Given the description of an element on the screen output the (x, y) to click on. 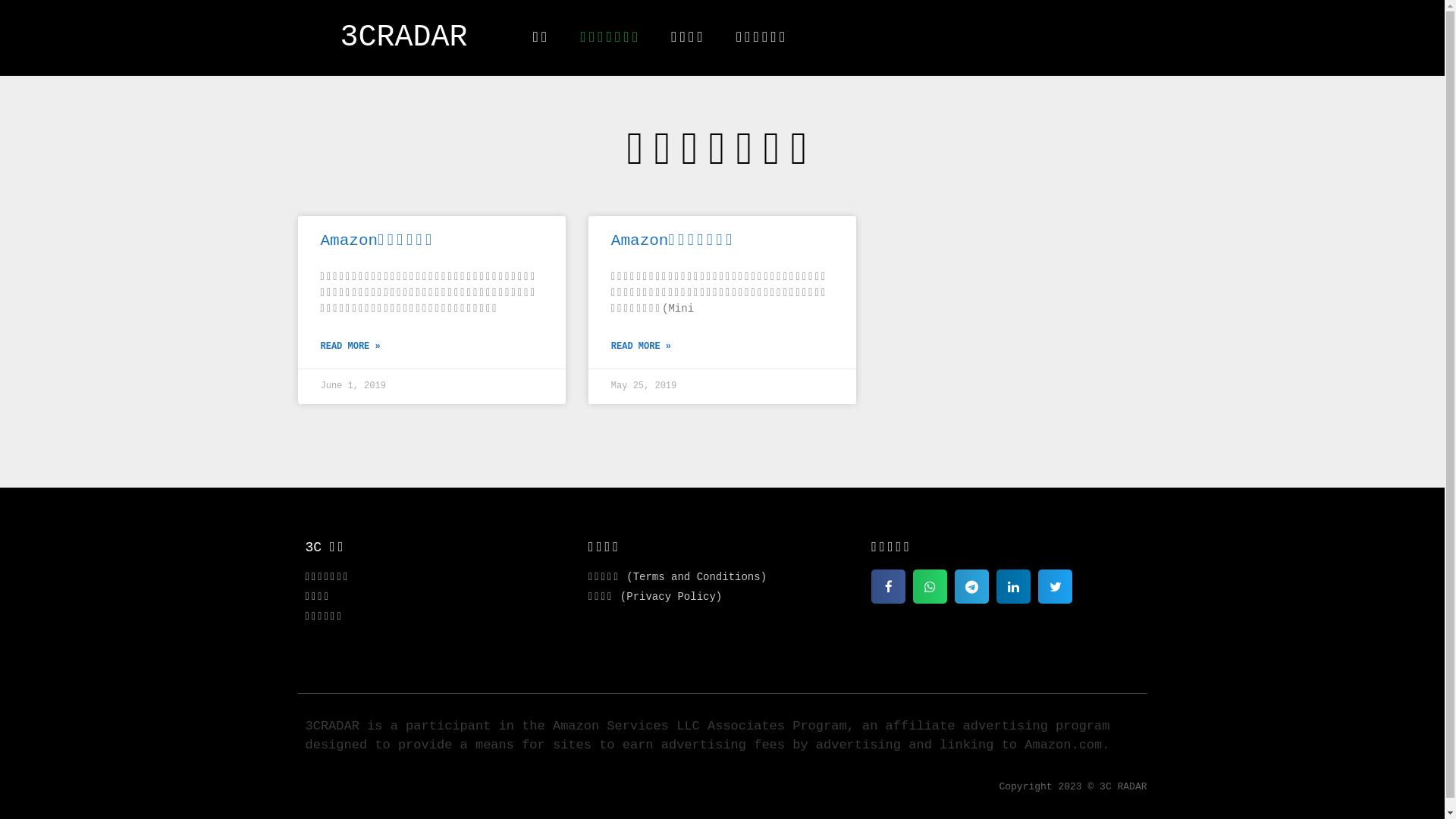
3CRADAR Element type: text (403, 37)
